Given the description of an element on the screen output the (x, y) to click on. 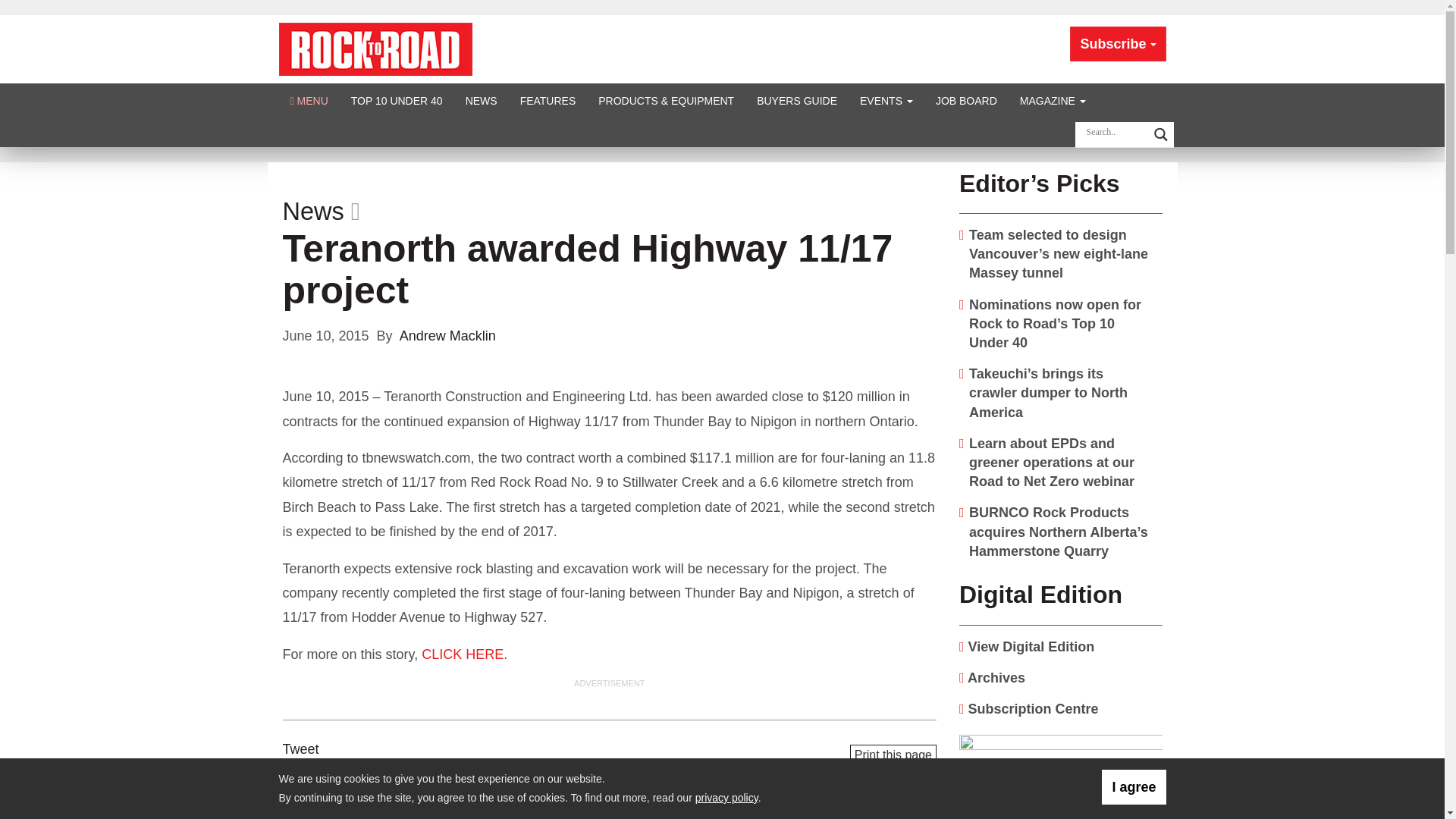
Click to show site navigation (309, 100)
BUYERS GUIDE (796, 100)
MAGAZINE (1053, 100)
TOP 10 UNDER 40 (396, 100)
Subscribe (1118, 43)
FEATURES (548, 100)
NEWS (481, 100)
MENU (309, 100)
EVENTS (886, 100)
JOB BOARD (966, 100)
Rock to Road (375, 48)
